Given the description of an element on the screen output the (x, y) to click on. 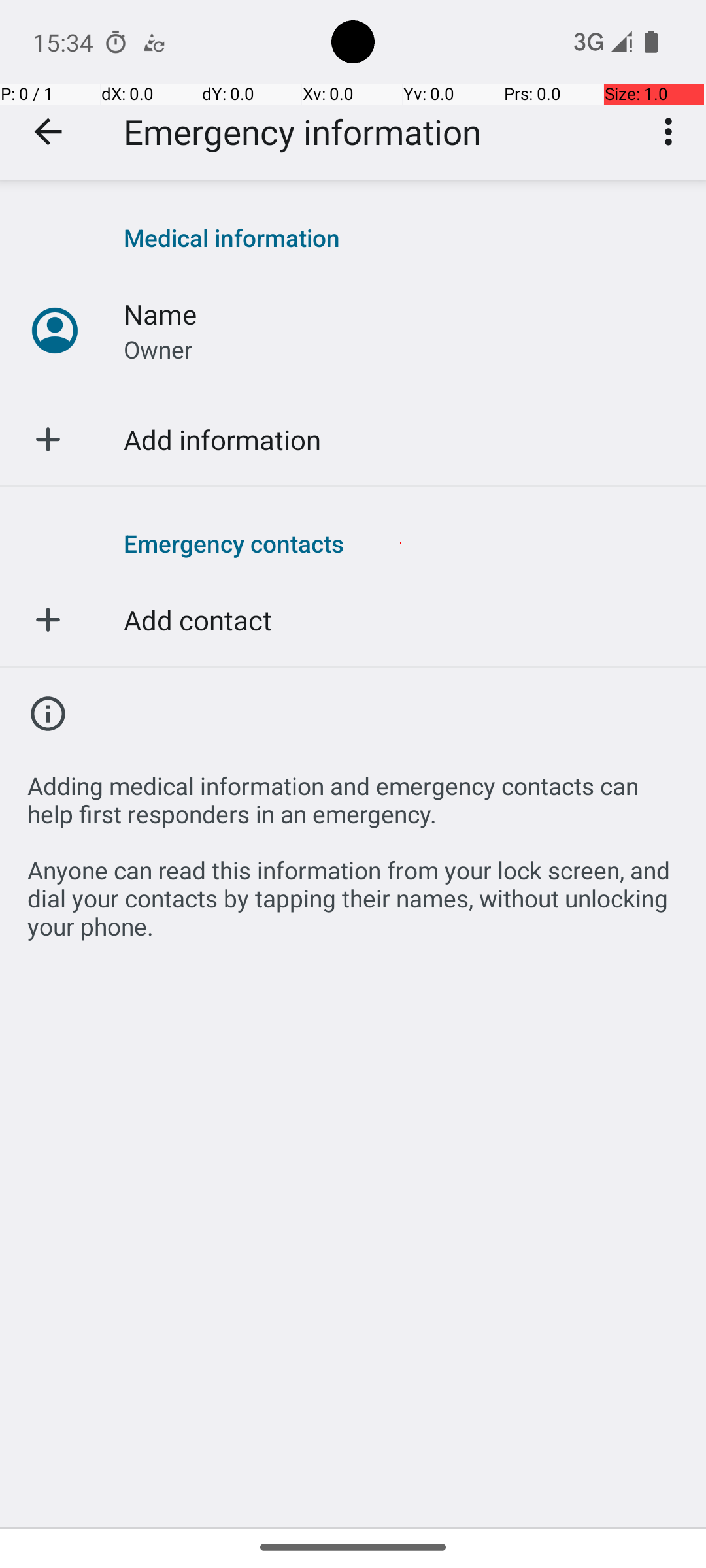
Emergency information Element type: android.widget.TextView (302, 131)
Medical information Element type: android.widget.TextView (400, 237)
Owner Element type: android.widget.TextView (157, 348)
Add information Element type: android.widget.TextView (221, 438)
Emergency contacts Element type: android.widget.TextView (400, 542)
Add contact Element type: android.widget.TextView (197, 619)
Adding medical information and emergency contacts can help first responders in an emergency.

Anyone can read this information from your lock screen, and dial your contacts by tapping their names, without unlocking your phone. Element type: android.widget.TextView (352, 848)
